Given the description of an element on the screen output the (x, y) to click on. 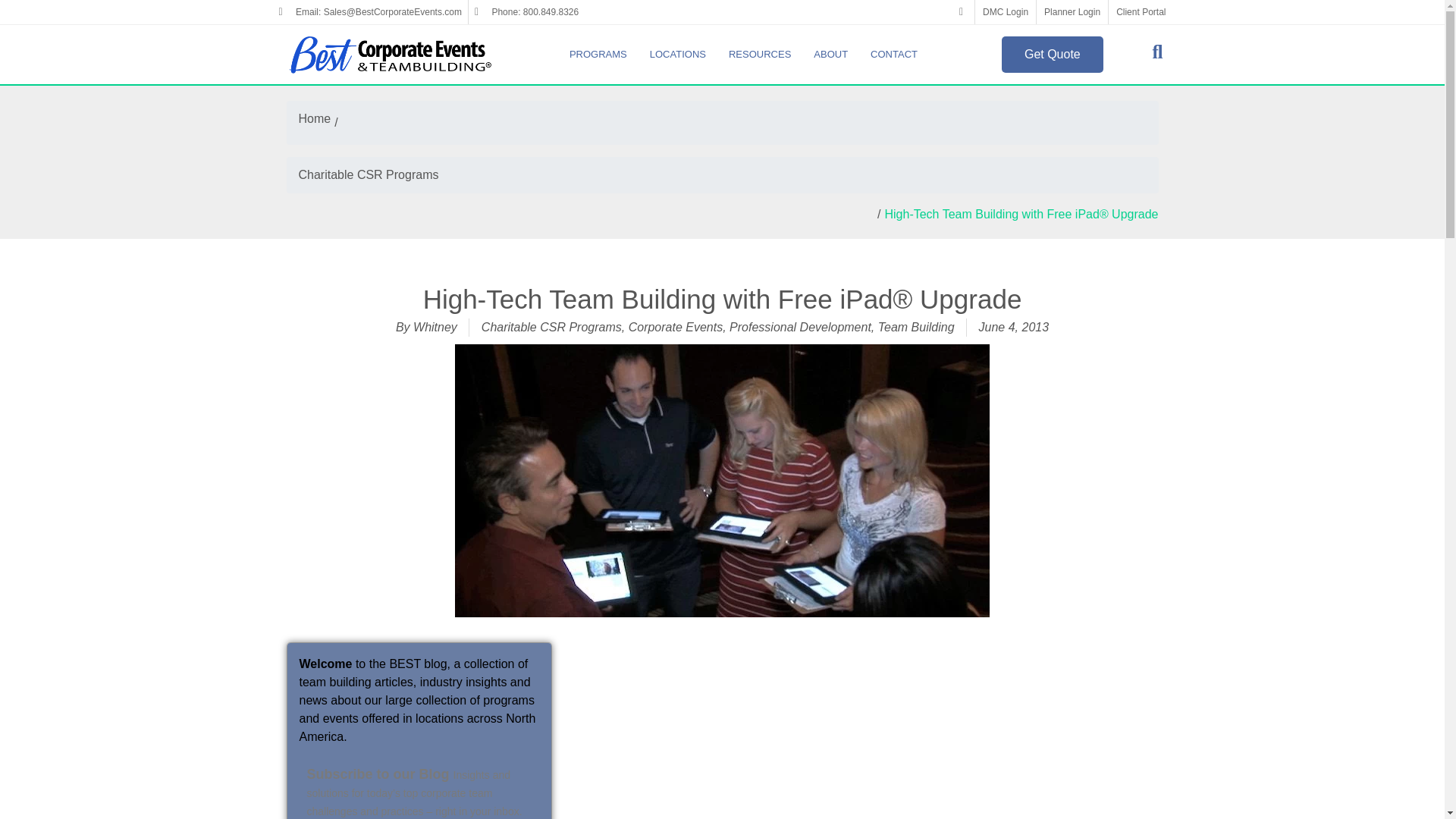
RESOURCES (763, 54)
Planner Login (1071, 12)
ABOUT (834, 54)
LOCATIONS (681, 54)
PROGRAMS (602, 54)
Phone: 800.849.8326 (526, 12)
DMC Login (1004, 12)
Client Portal (1141, 12)
